Given the description of an element on the screen output the (x, y) to click on. 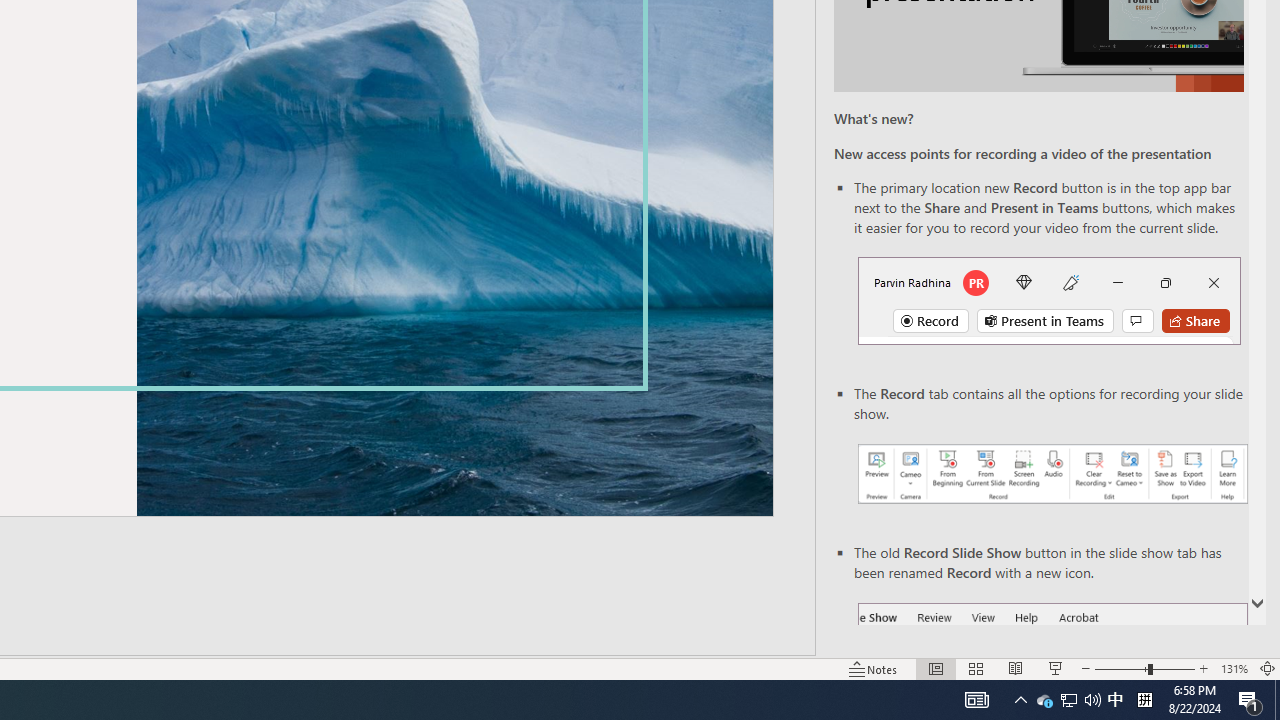
Zoom 131% (1234, 668)
Record your presentations screenshot one (1052, 473)
Record button in top bar (1049, 300)
